Given the description of an element on the screen output the (x, y) to click on. 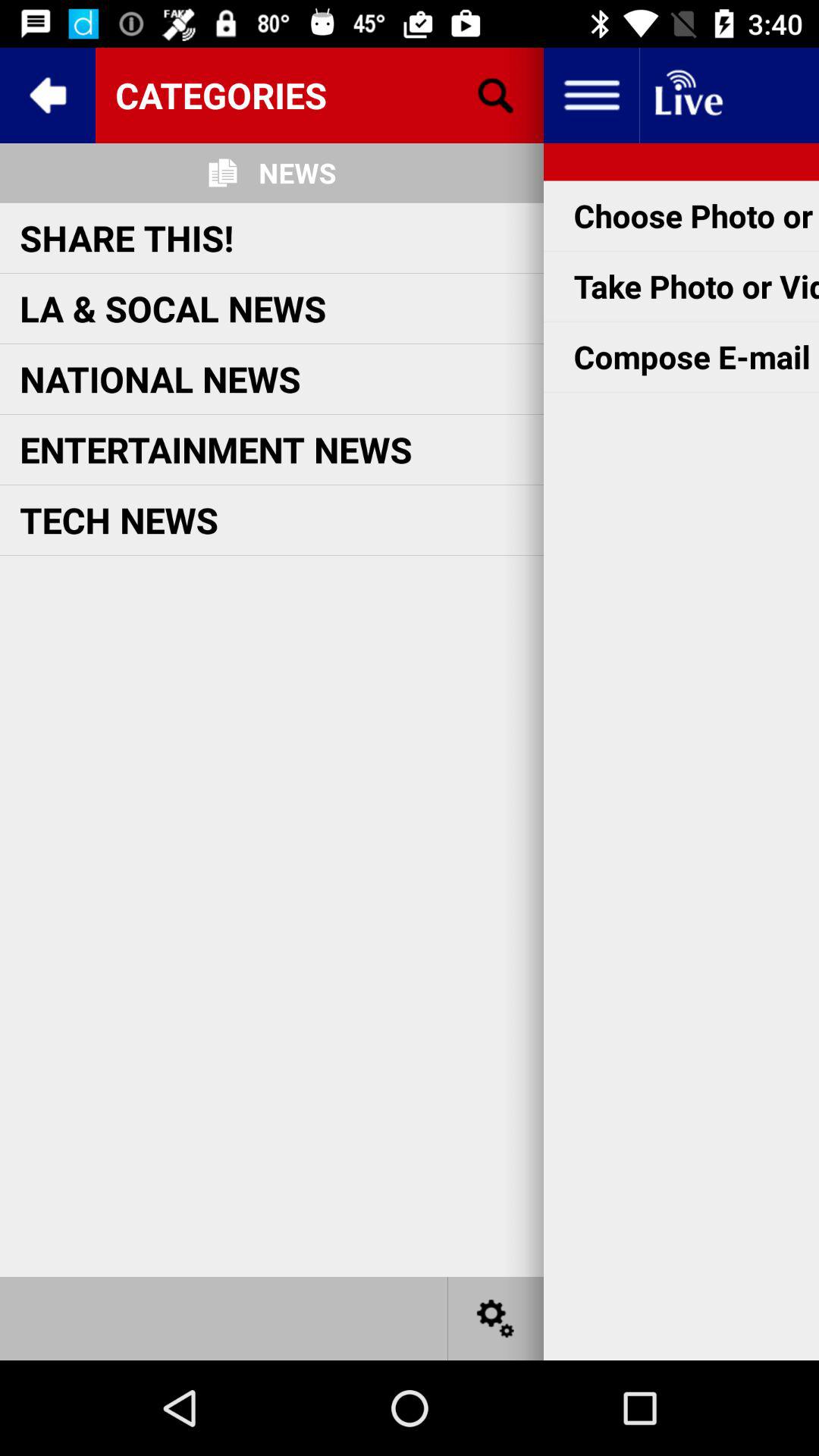
watch live broadcast (687, 95)
